Given the description of an element on the screen output the (x, y) to click on. 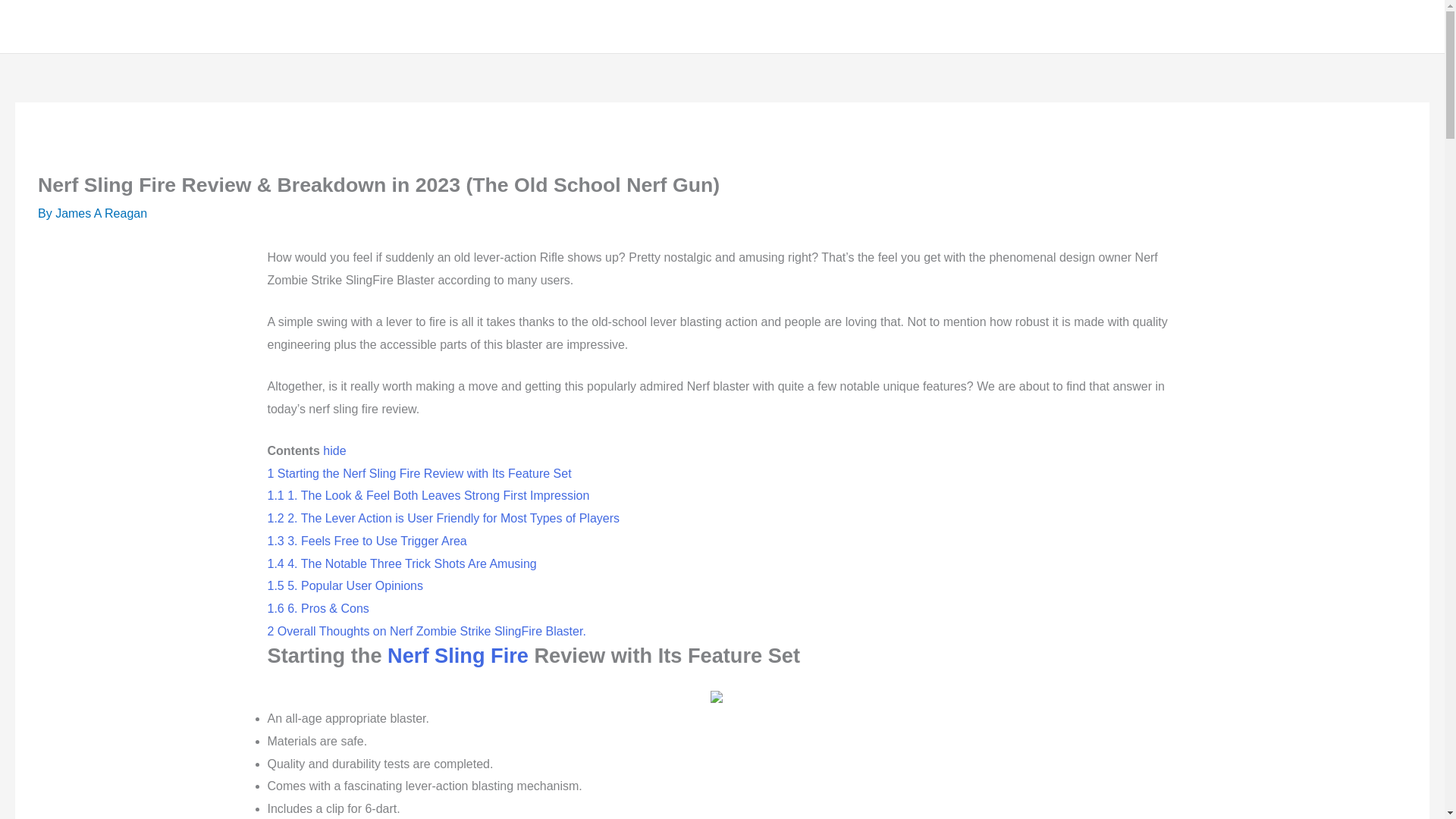
1 Starting the Nerf Sling Fire Review with Its Feature Set (418, 472)
hide (334, 450)
Best (1235, 26)
1.4 4. The Notable Three Trick Shots Are Amusing (400, 563)
James A Reagan (101, 213)
Blog (1370, 26)
Reviews (1302, 26)
Search (1413, 26)
1.5 5. Popular User Opinions (344, 585)
View all posts by James A Reagan (101, 213)
Nerf Point (71, 26)
1.3 3. Feels Free to Use Trigger Area (365, 540)
2 Overall Thoughts on Nerf Zombie Strike SlingFire Blaster. (425, 631)
Nerf Sling Fire (457, 655)
